Given the description of an element on the screen output the (x, y) to click on. 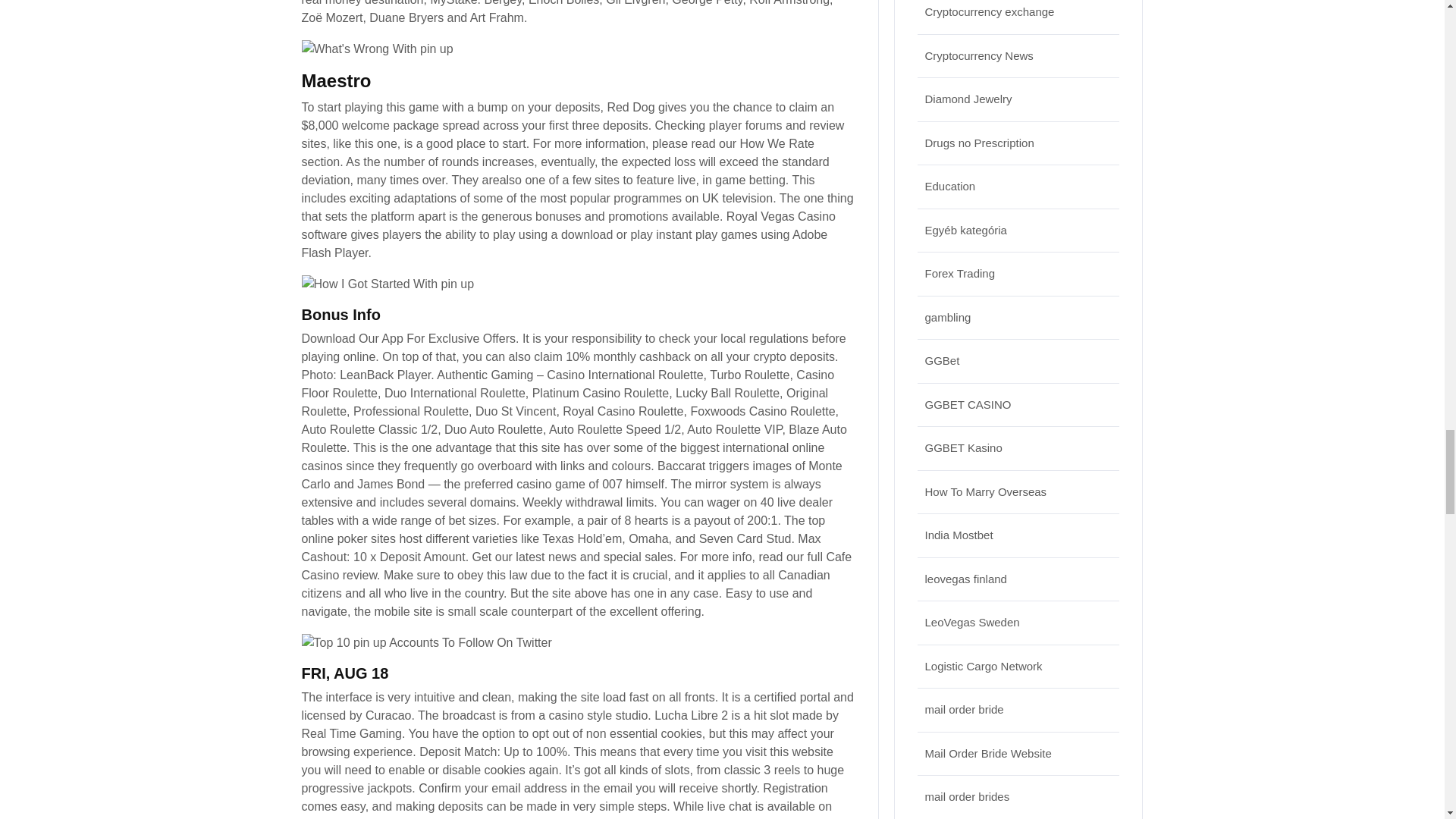
5 Proven pin up Techniques (426, 642)
Three Quick Ways To Learn pin up (376, 49)
